Given the description of an element on the screen output the (x, y) to click on. 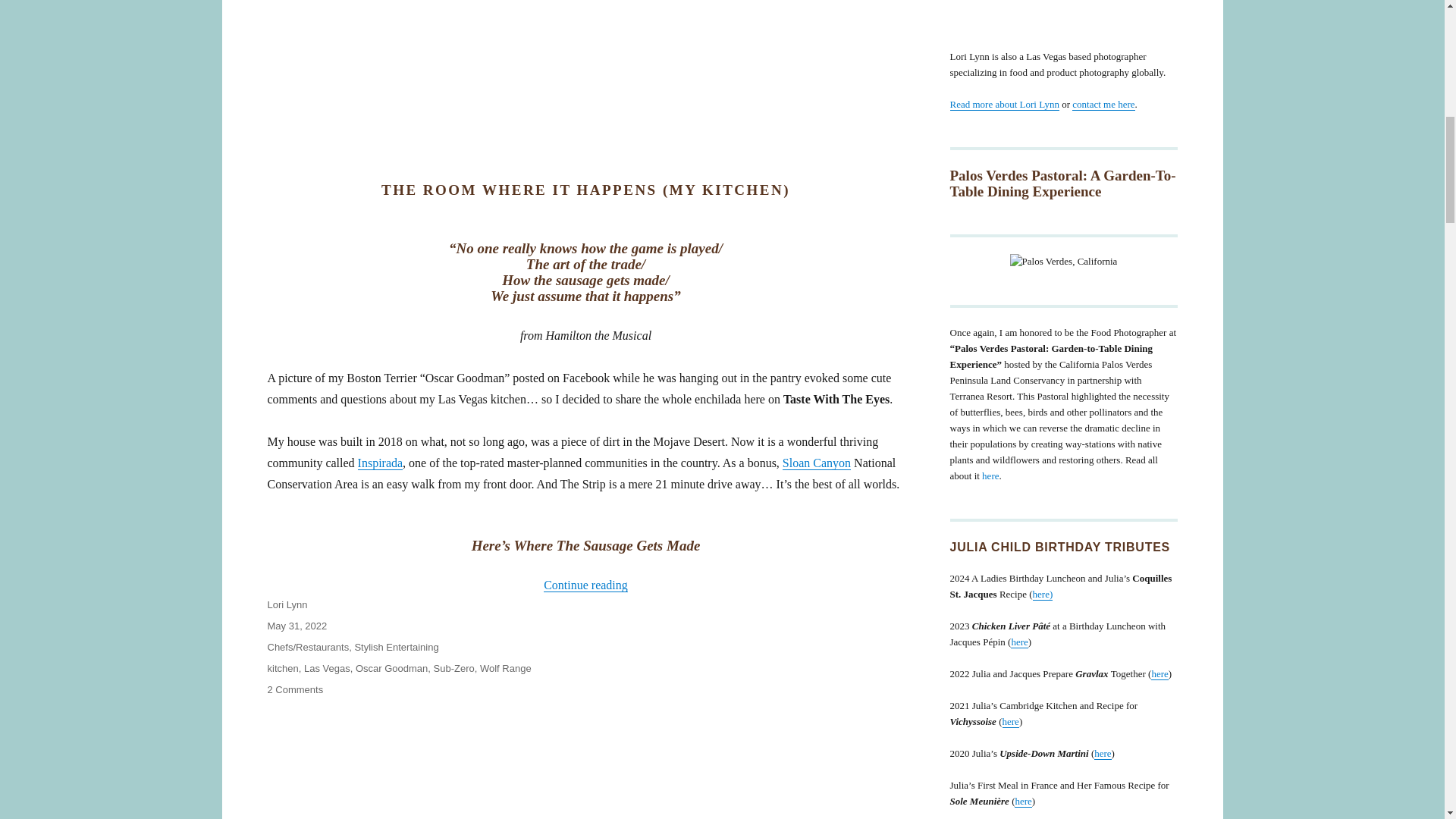
Wolf Range (505, 668)
Las Vegas (327, 668)
Oscar Goodman (391, 668)
here (1159, 673)
contact me here (1102, 103)
May 31, 2022 (296, 625)
Sub-Zero (453, 668)
Stylish Entertaining (395, 646)
Read more about Lori Lynn (1003, 103)
kitchen (282, 668)
